Given the description of an element on the screen output the (x, y) to click on. 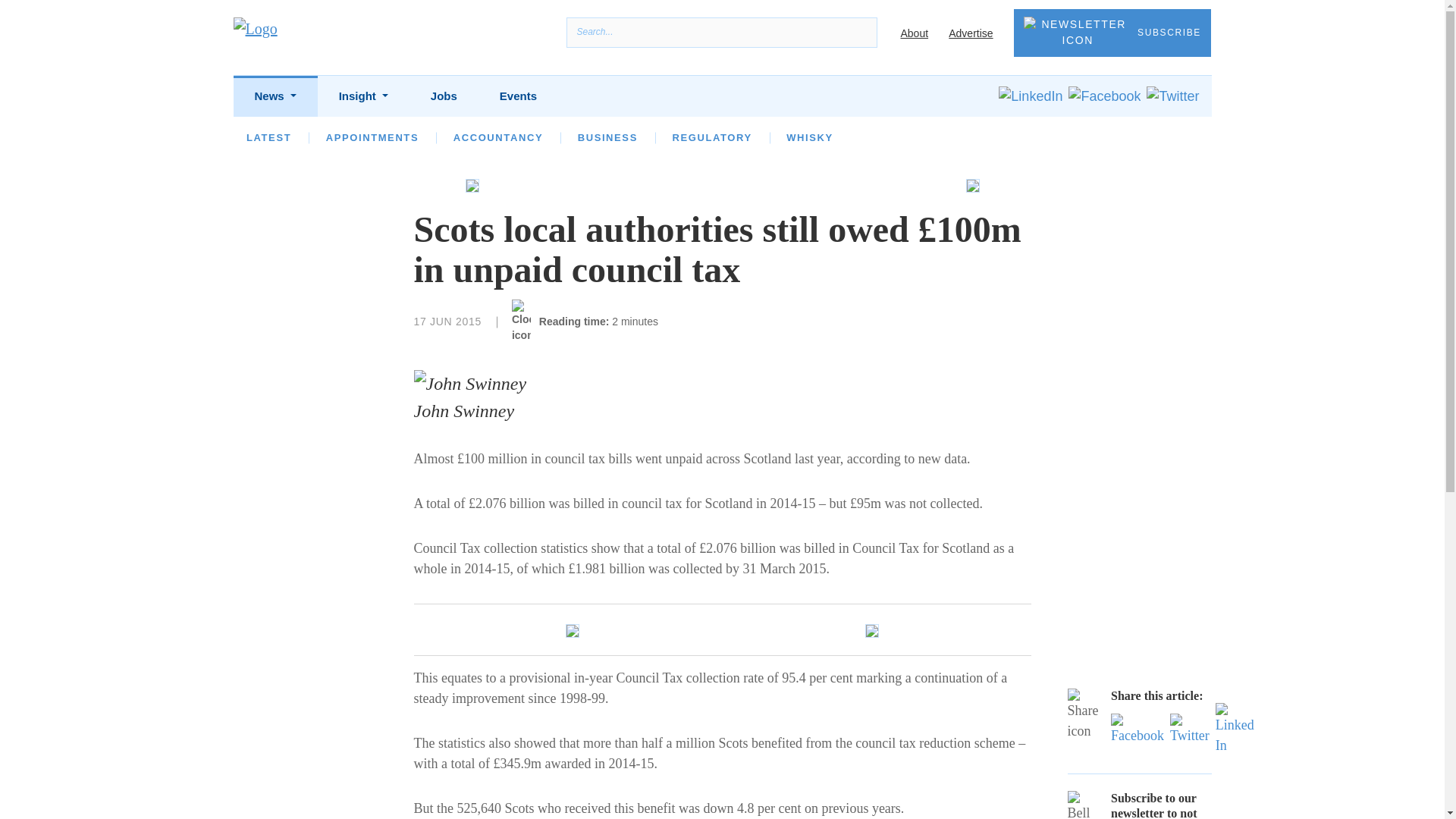
REGULATORY (711, 137)
INTERVIEWS (446, 137)
WHISKY (809, 137)
Advertise (970, 33)
ACCOUNTANCY (497, 137)
Insight (363, 96)
OPINION (350, 137)
About (913, 33)
Jobs (444, 96)
APPOINTMENTS (372, 137)
SUBSCRIBE (1112, 32)
LATEST (268, 137)
BUSINESS (607, 137)
Events (518, 96)
News (274, 96)
